Given the description of an element on the screen output the (x, y) to click on. 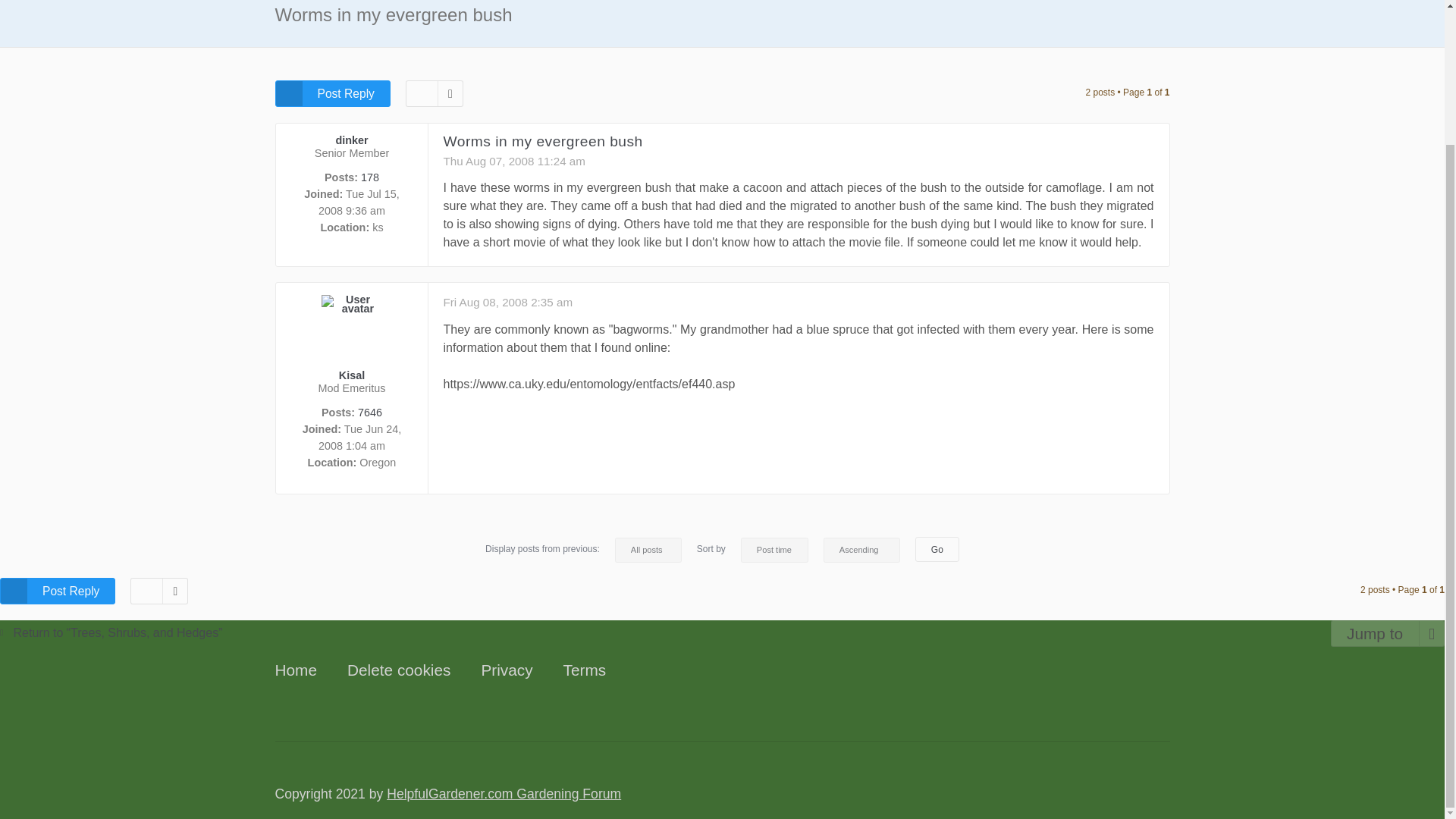
Go (937, 549)
Thu Aug 07, 2008 11:24 am (513, 160)
Fri Aug 08, 2008 2:35 am (507, 301)
Go (937, 549)
Post a reply (332, 93)
Post Reply (332, 93)
Kisal (352, 375)
178 (369, 177)
Post a reply (57, 591)
dinker (351, 140)
